Given the description of an element on the screen output the (x, y) to click on. 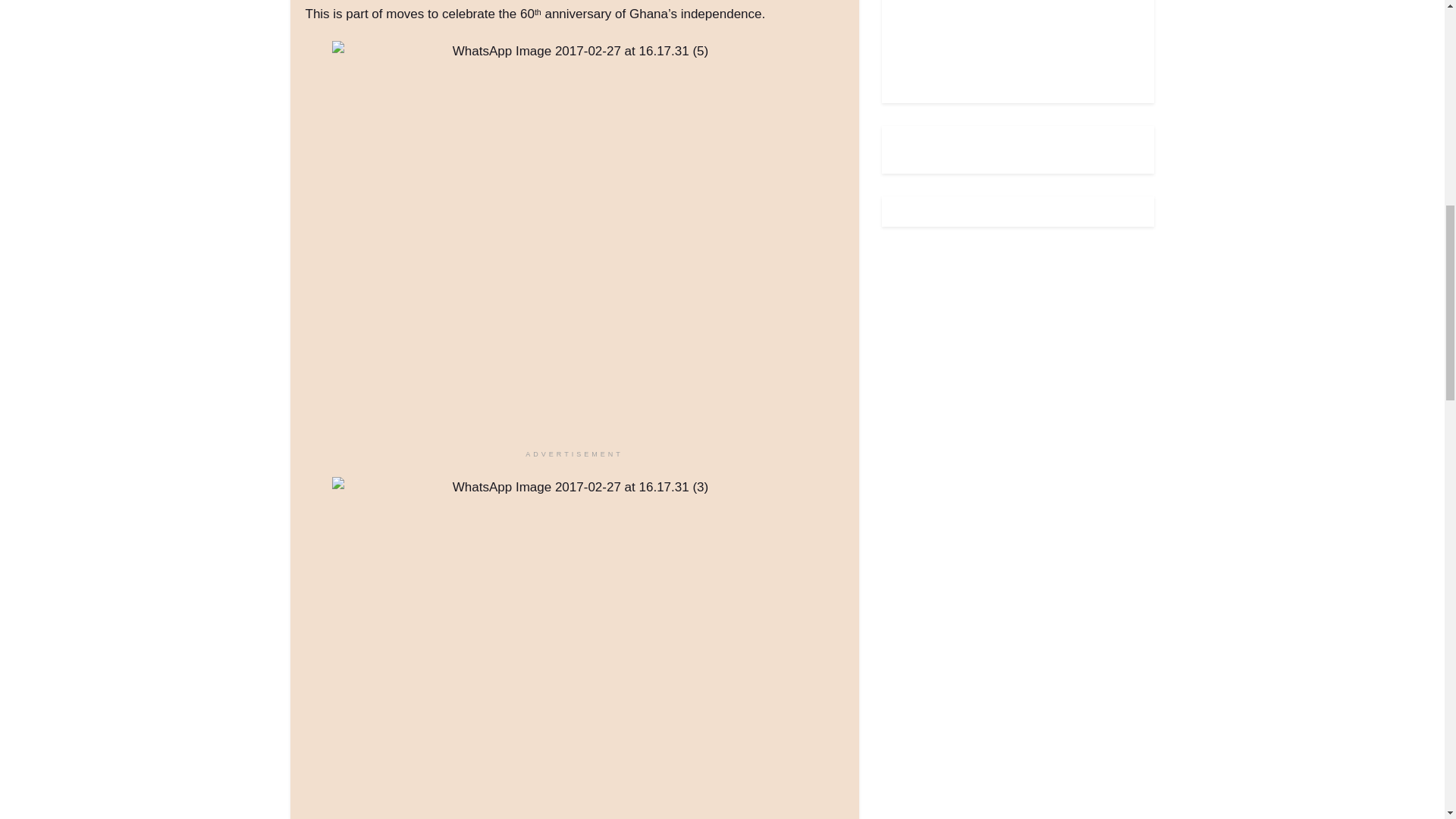
Advertisement (1010, 41)
